Given the description of an element on the screen output the (x, y) to click on. 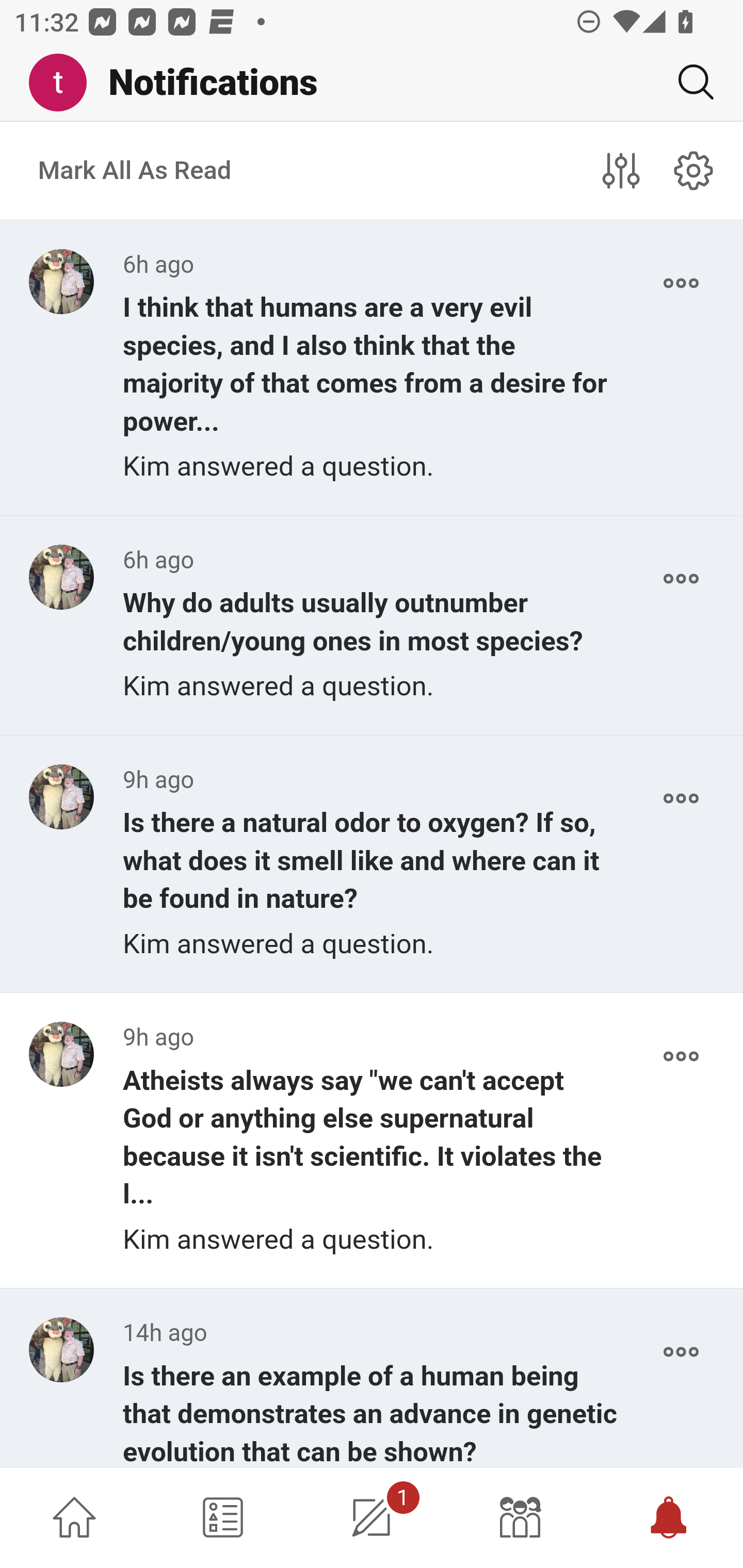
Me (64, 83)
Search (688, 82)
Mark All As Read (135, 171)
notifications# (693, 170)
More (681, 282)
More (681, 579)
More (681, 798)
More (681, 1055)
More (681, 1352)
1 (371, 1517)
